Given the description of an element on the screen output the (x, y) to click on. 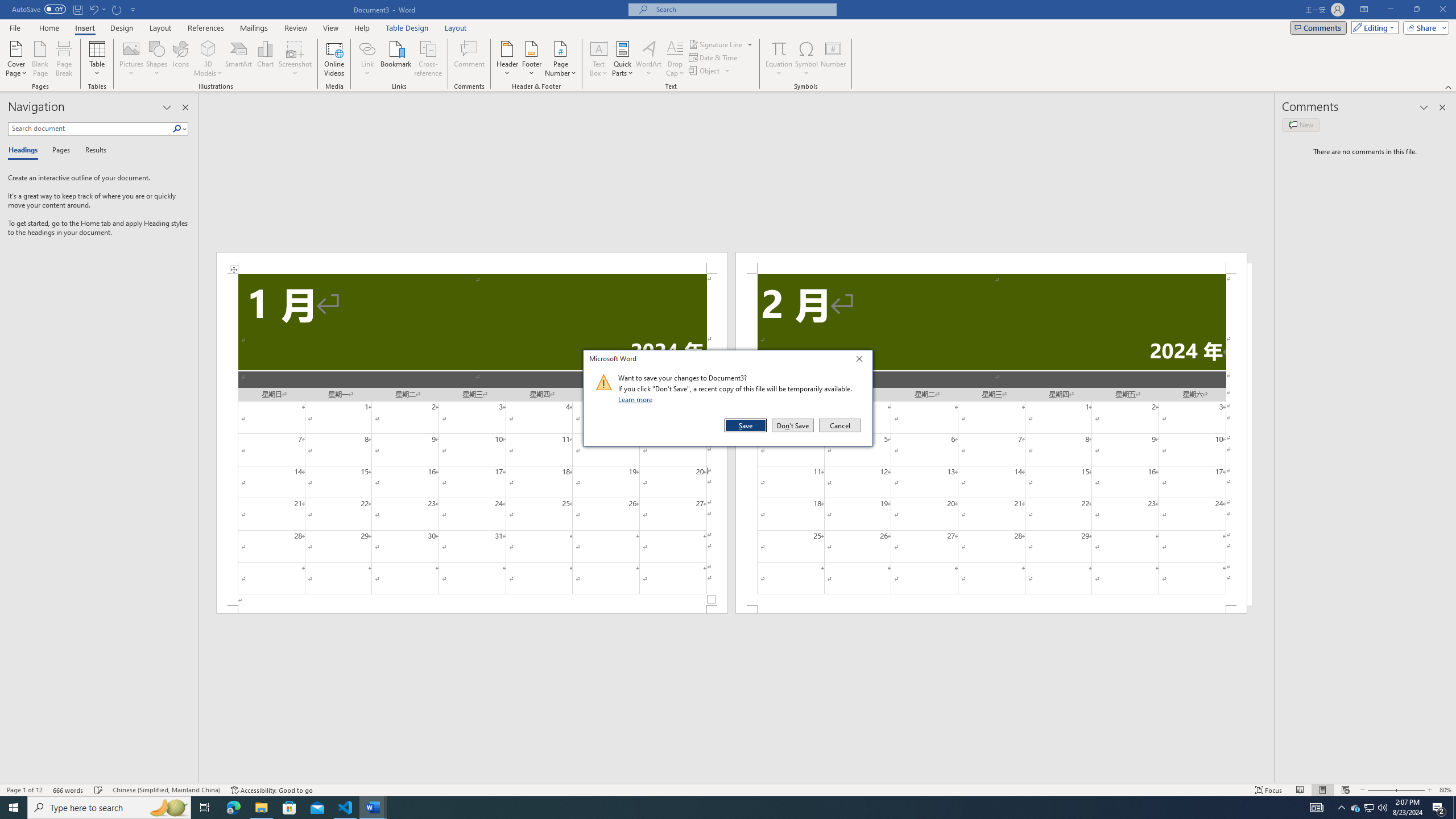
Task Pane Options (167, 107)
Object... (705, 69)
Close (862, 360)
Link (367, 58)
WordArt (648, 58)
Footer (531, 58)
Read Mode (1299, 790)
Task View (204, 807)
Comments (1318, 27)
Blank Page (40, 58)
System (6, 6)
Object... (709, 69)
